Given the description of an element on the screen output the (x, y) to click on. 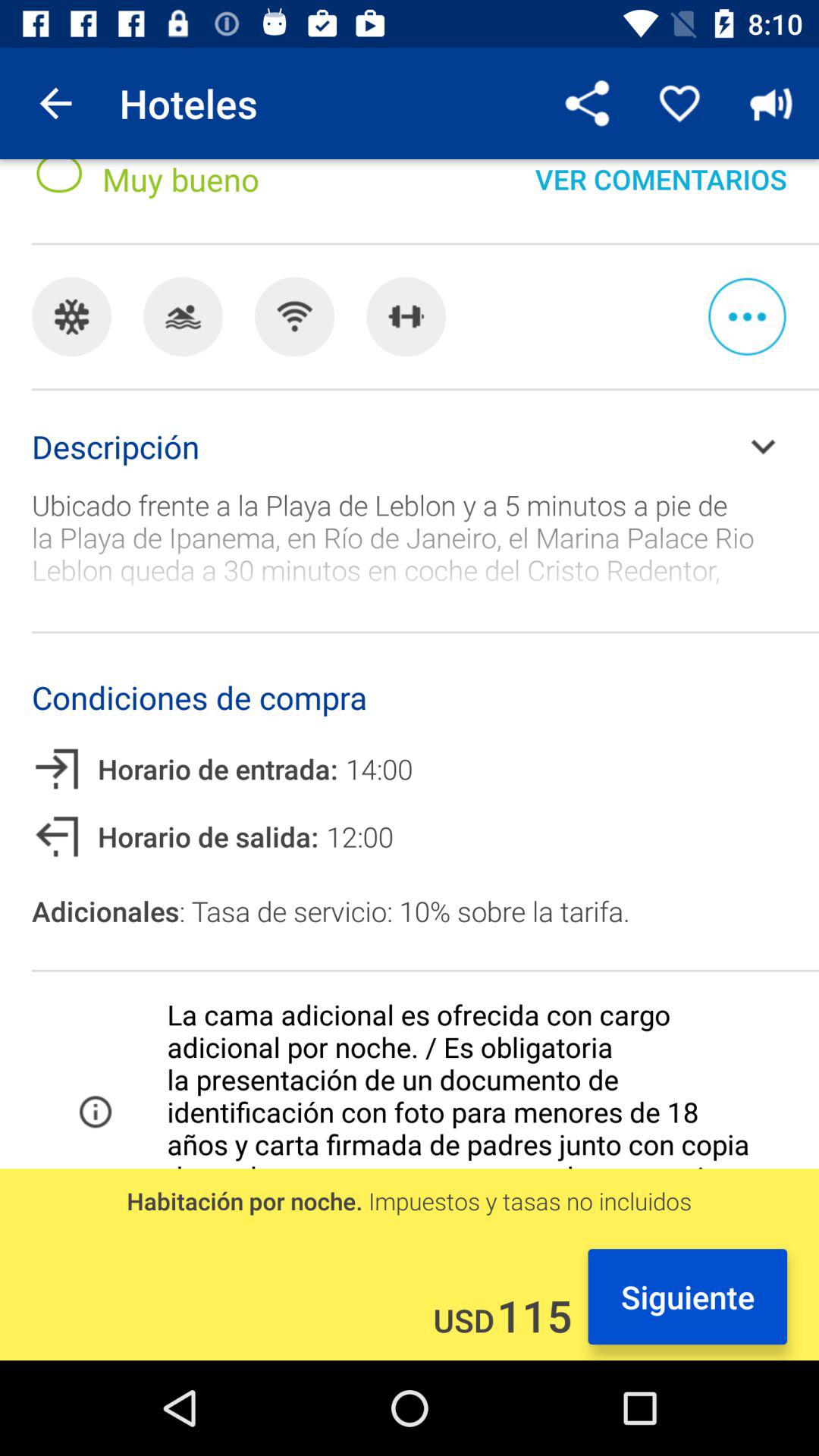
turn on item next to the hoteles (55, 103)
